Given the description of an element on the screen output the (x, y) to click on. 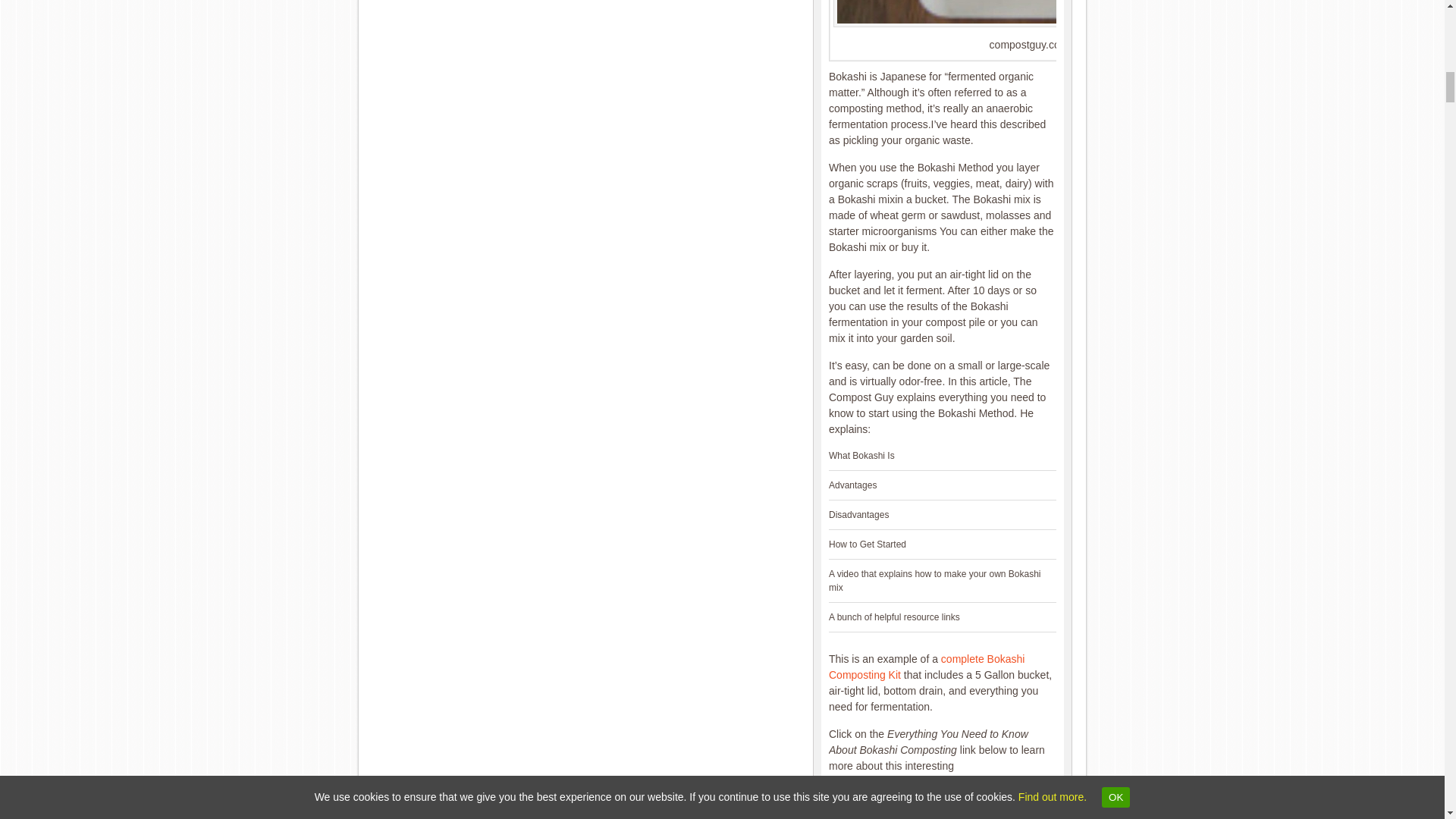
Bokashi (926, 666)
Everything You Need to Know About Bokashi Composting (1028, 13)
complete Bokashi Composting Kit (926, 666)
